Given the description of an element on the screen output the (x, y) to click on. 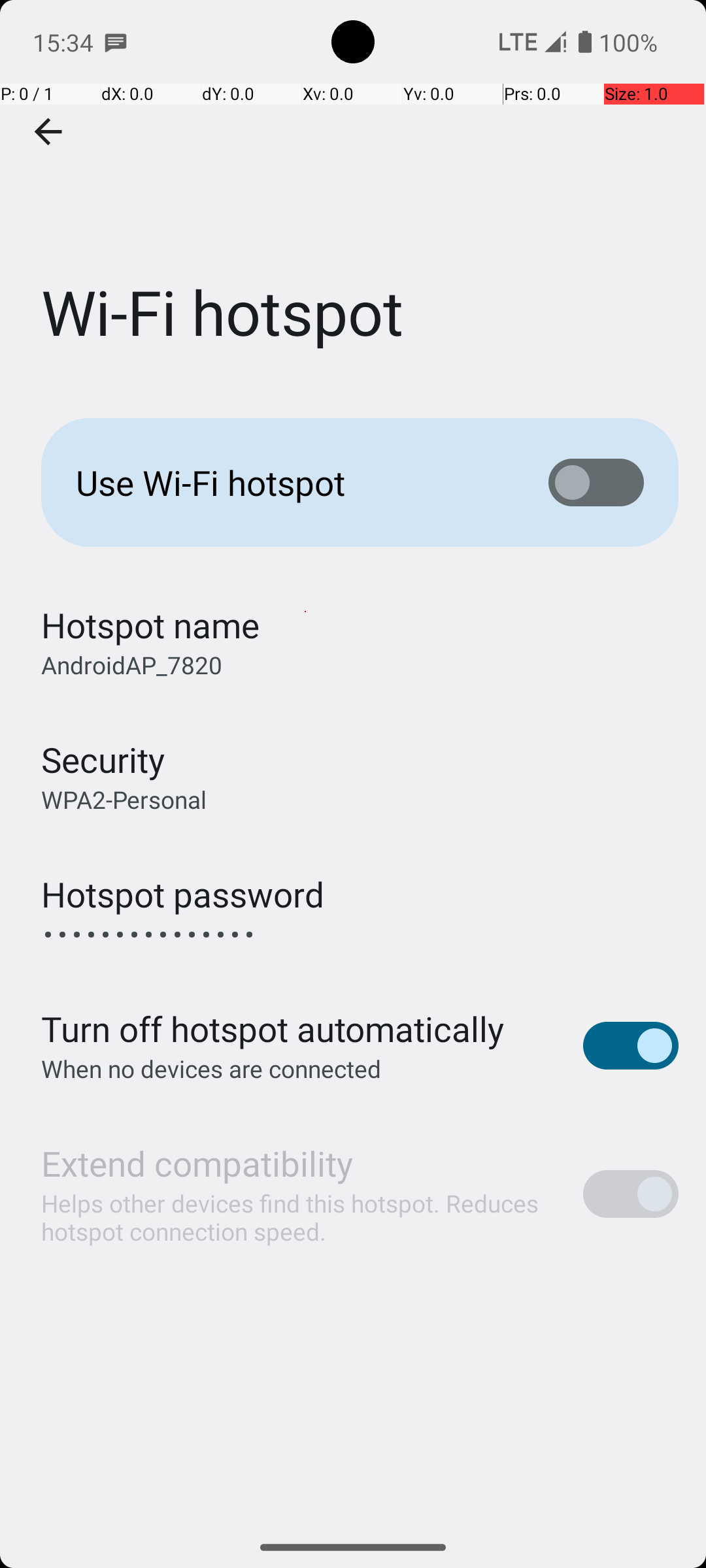
Wi‑Fi hotspot Element type: android.widget.FrameLayout (353, 195)
Use Wi‑Fi hotspot Element type: android.widget.TextView (291, 482)
Hotspot name Element type: android.widget.TextView (150, 624)
AndroidAP_7820 Element type: android.widget.TextView (131, 664)
Security Element type: android.widget.TextView (102, 759)
WPA2-Personal Element type: android.widget.TextView (124, 799)
Hotspot password Element type: android.widget.TextView (182, 893)
••••••••••••••• Element type: android.widget.TextView (148, 933)
Turn off hotspot automatically Element type: android.widget.TextView (272, 1028)
When no devices are connected Element type: android.widget.TextView (211, 1068)
Extend compatibility Element type: android.widget.TextView (197, 1163)
Helps other devices find this hotspot. Reduces hotspot connection speed. Element type: android.widget.TextView (298, 1216)
